Given the description of an element on the screen output the (x, y) to click on. 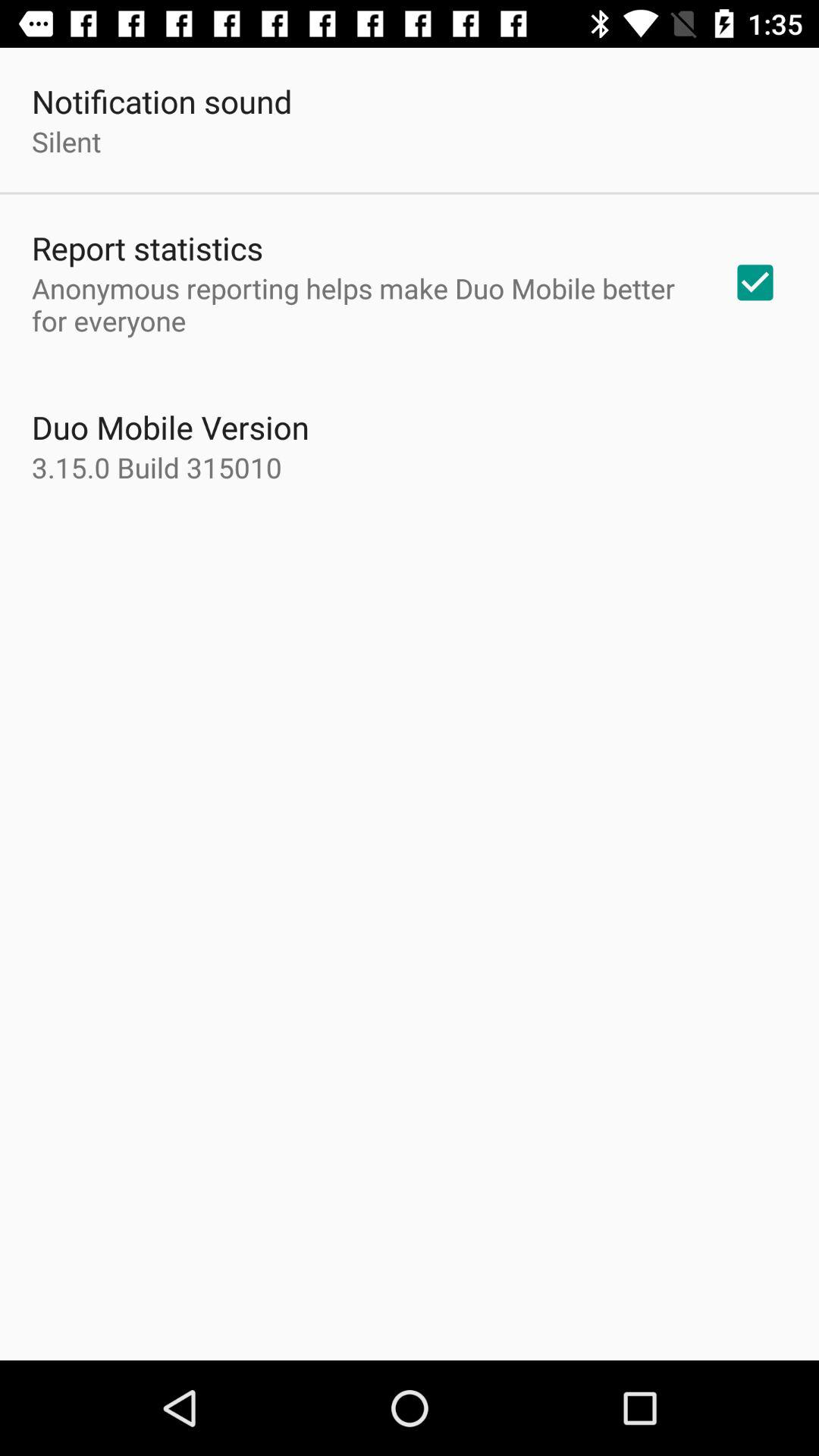
select item below the notification sound icon (66, 141)
